Given the description of an element on the screen output the (x, y) to click on. 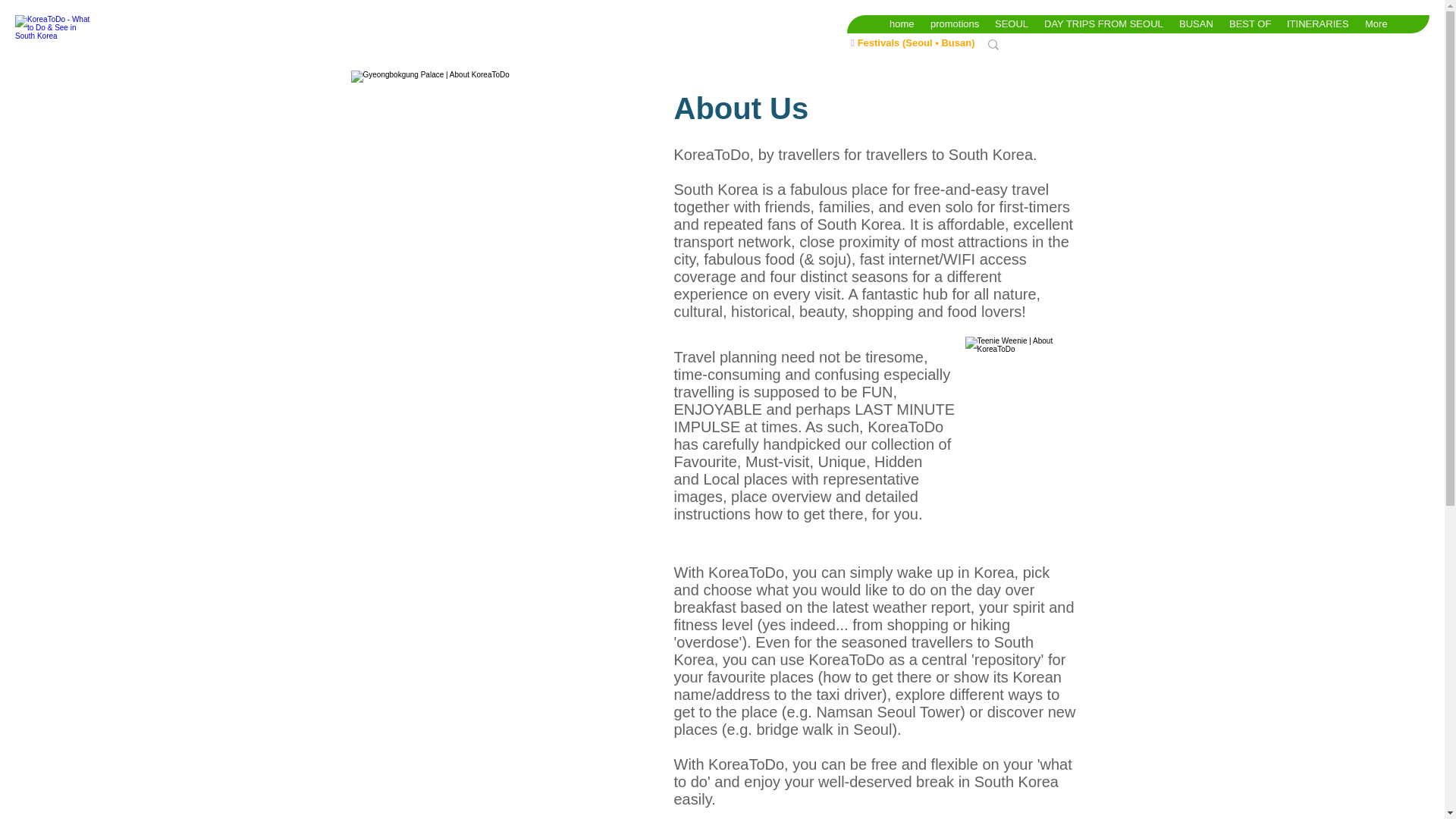
promotions (954, 24)
BUSAN (1195, 24)
home (900, 24)
